Given the description of an element on the screen output the (x, y) to click on. 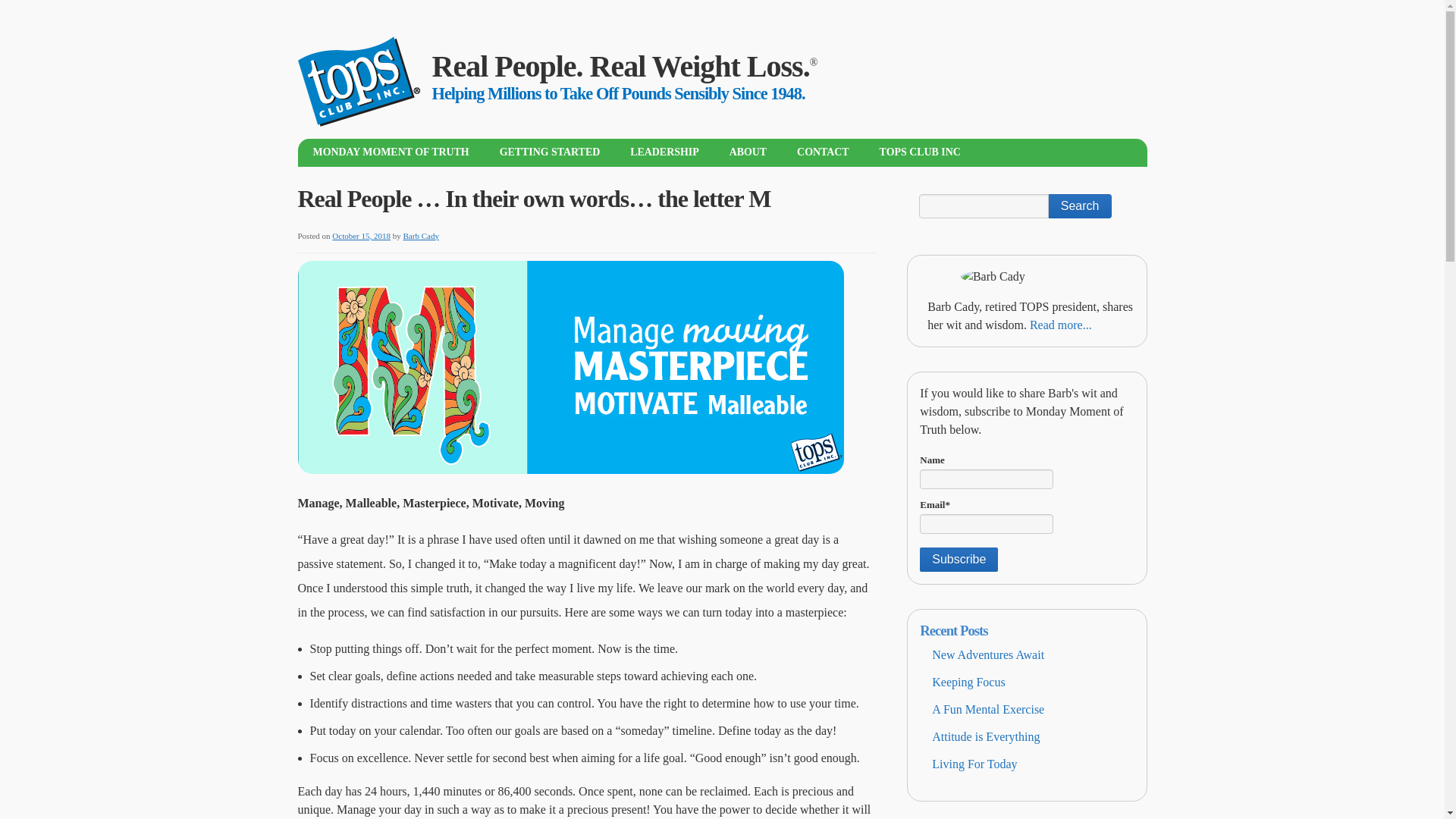
October 15, 2018 (360, 234)
Barb Cady (421, 234)
Search (1080, 206)
View all posts by Barb Cady (421, 234)
LEADERSHIP (663, 152)
8:00 am (360, 234)
ABOUT (747, 152)
TOPS CLUB INC (919, 152)
GETTING STARTED (549, 152)
MONDAY MOMENT OF TRUTH (390, 152)
